Given the description of an element on the screen output the (x, y) to click on. 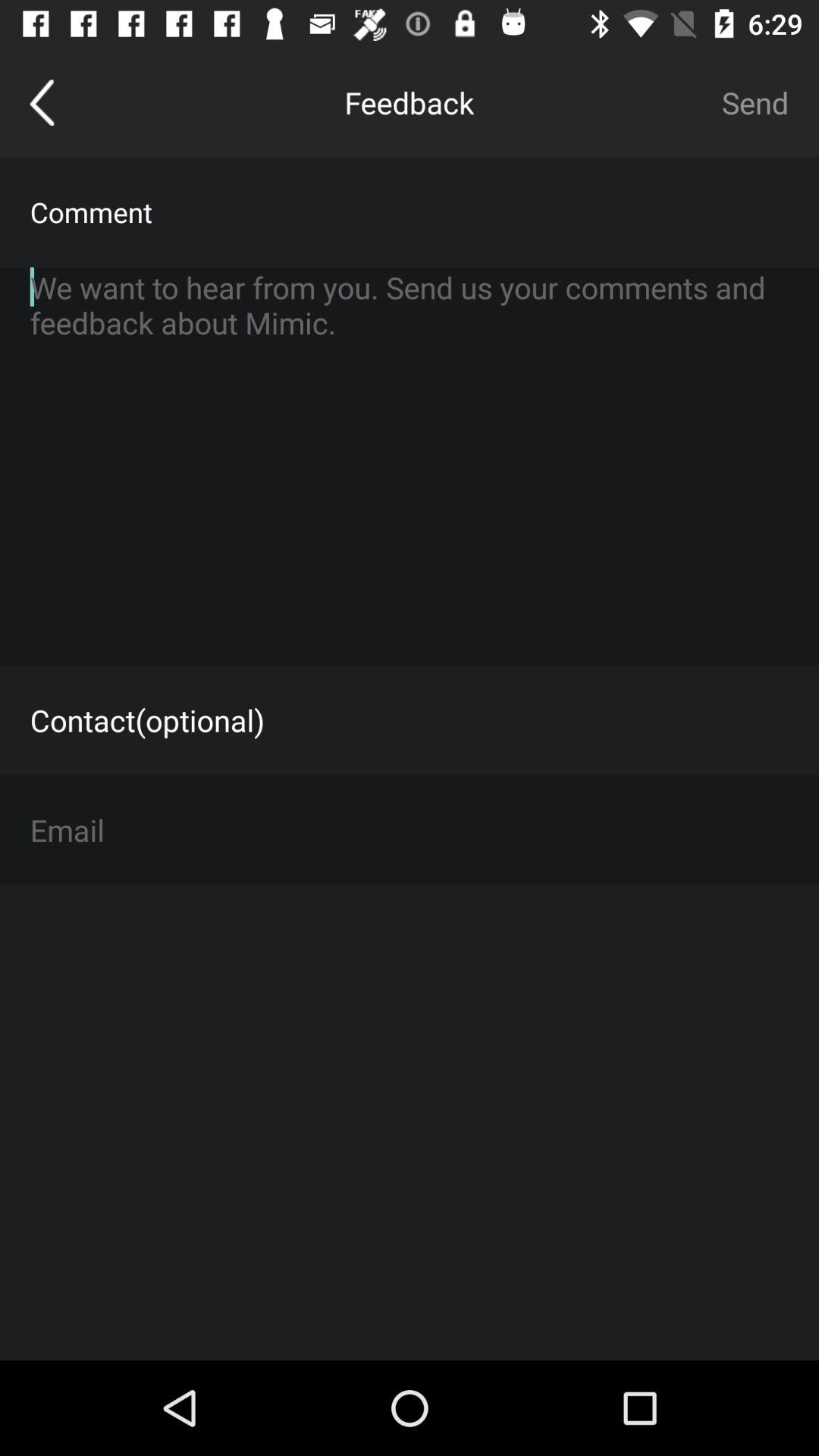
tap item above the comment (42, 102)
